Given the description of an element on the screen output the (x, y) to click on. 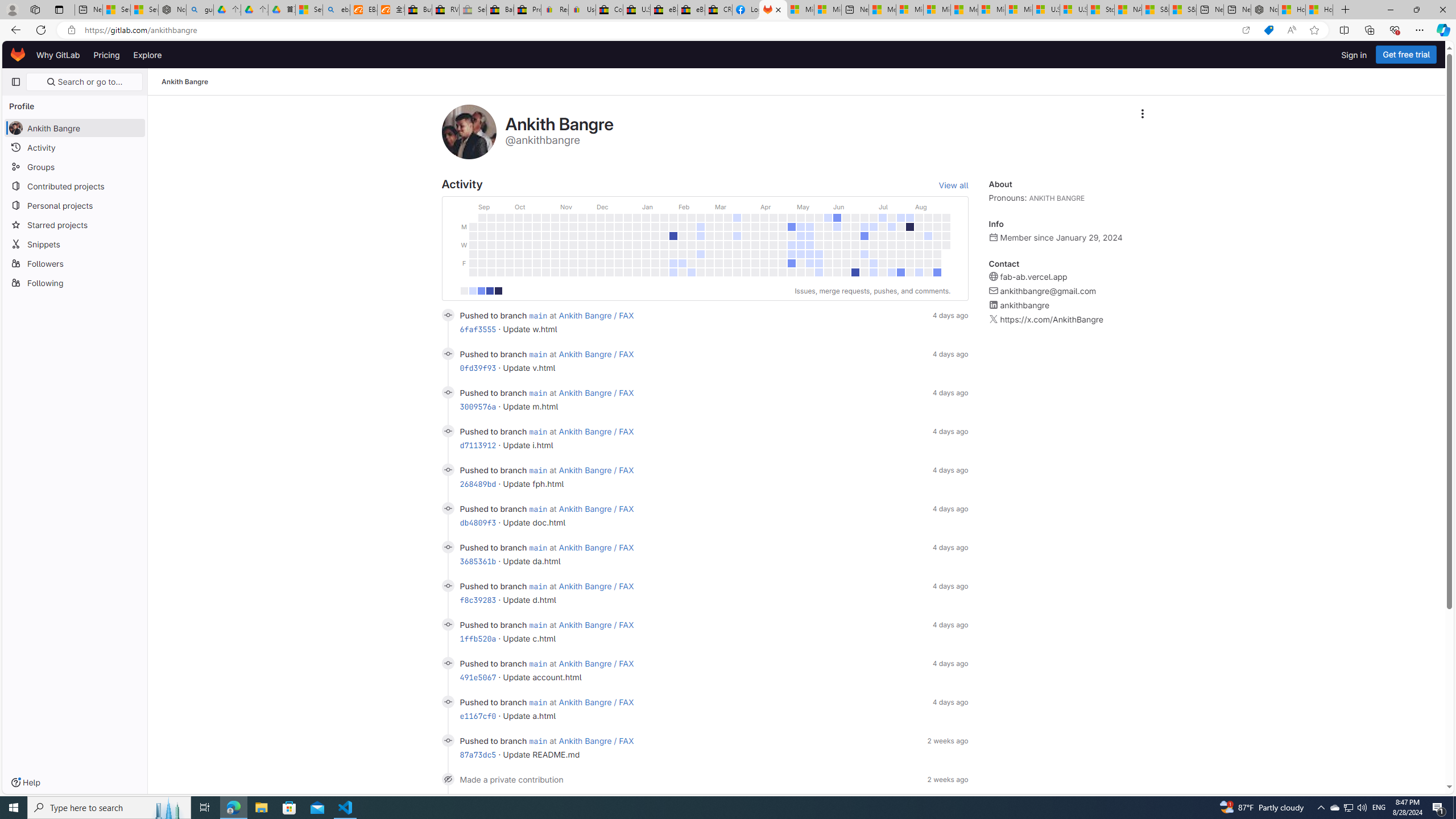
Activity (74, 147)
3685361b (478, 561)
User profile picture (468, 131)
Sign in (1353, 54)
